Given the description of an element on the screen output the (x, y) to click on. 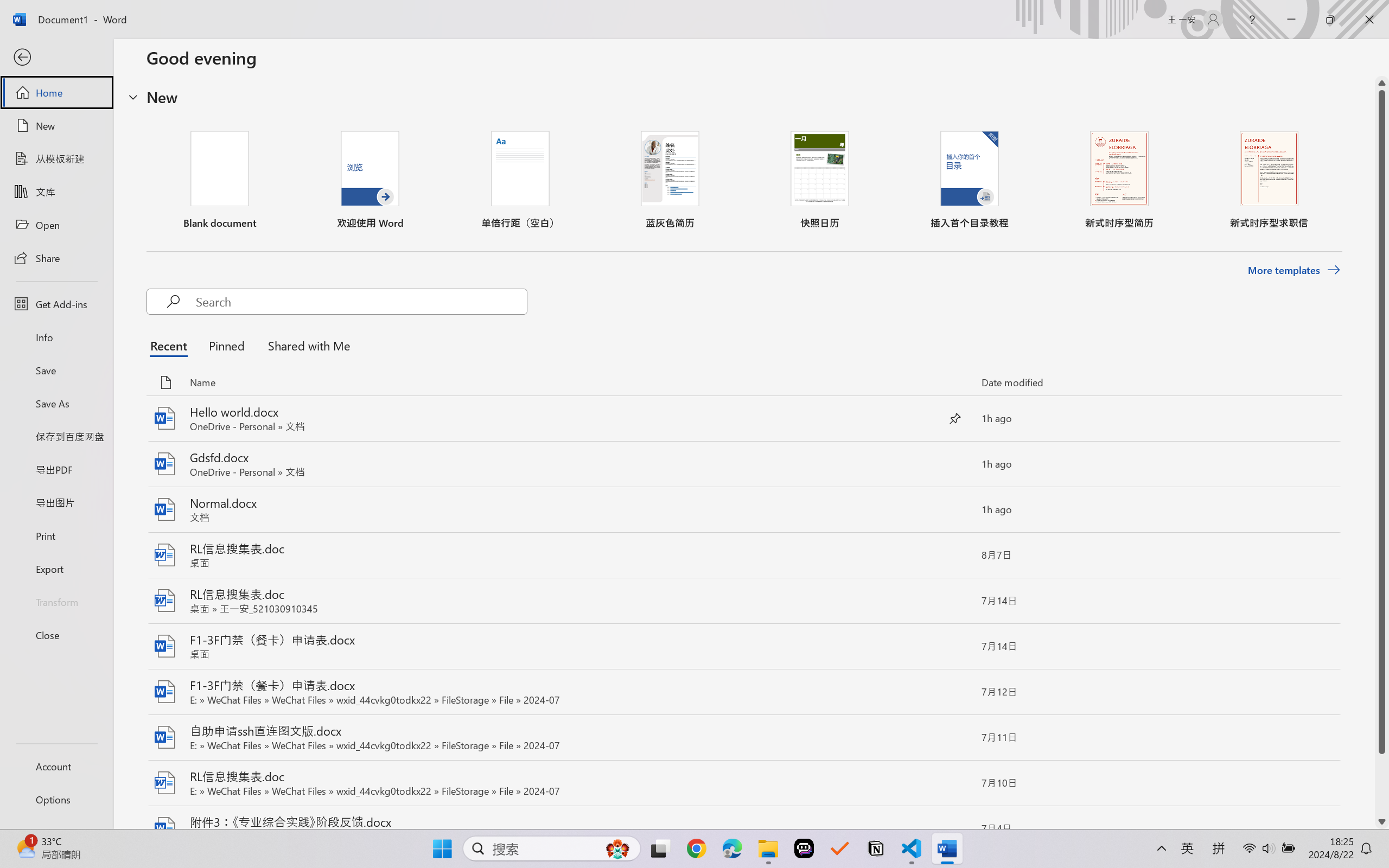
Gdsfd.docx (743, 463)
Page down (1382, 784)
Print (56, 535)
Shared with Me (305, 345)
Blank document (219, 180)
Recent (171, 345)
Normal.docx (743, 509)
Unpin this item from the list (954, 418)
